Given the description of an element on the screen output the (x, y) to click on. 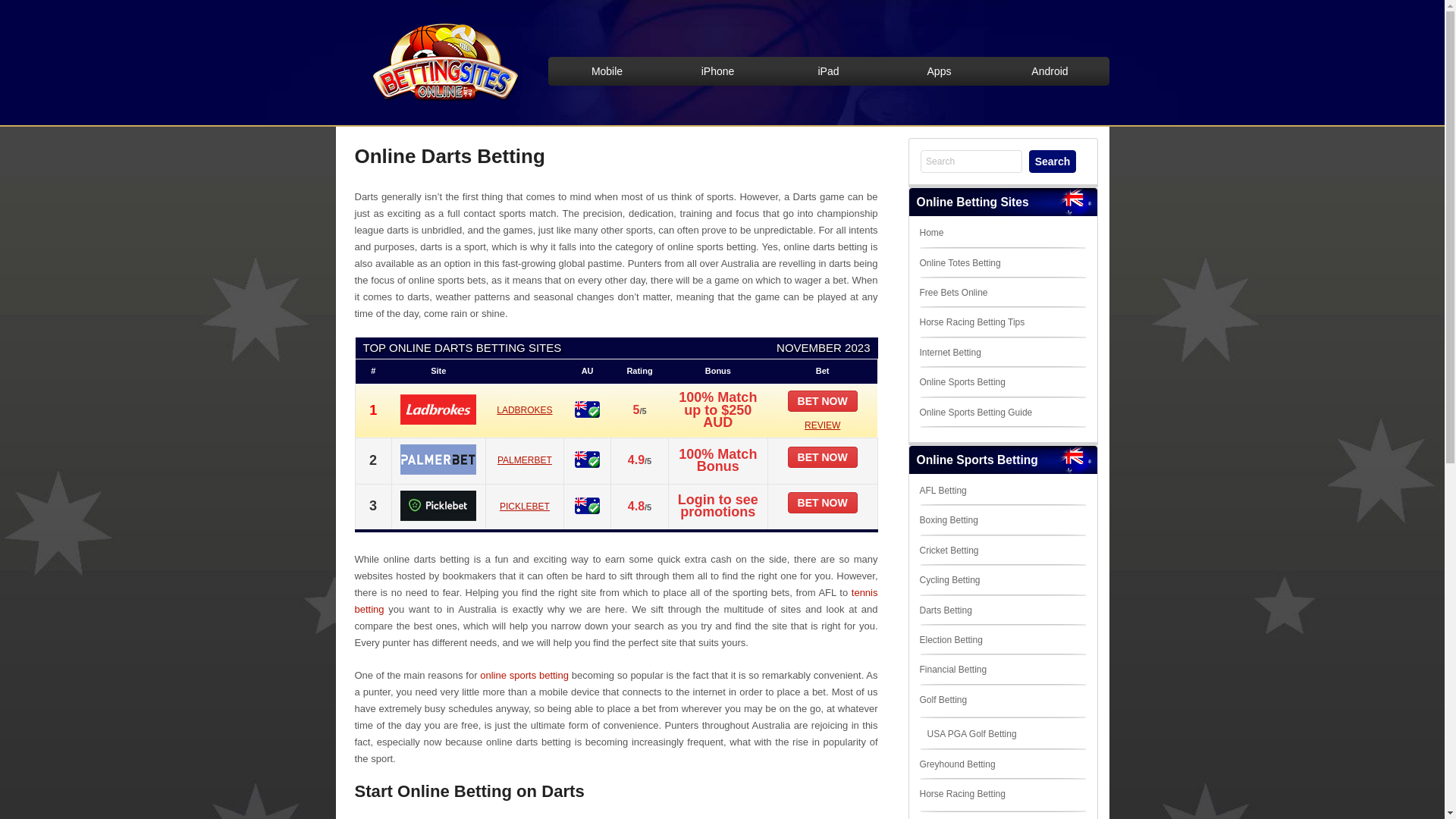
REVIEW Element type: text (822, 425)
Cricket Betting Element type: text (948, 550)
Horse Racing Betting Tips Element type: text (971, 321)
Search Element type: text (1052, 161)
Home Element type: text (931, 232)
Online Sports Betting Guide Element type: text (975, 411)
online sports betting Element type: text (524, 674)
AFL Betting Element type: text (942, 490)
iPhone Element type: text (717, 70)
Online Totes Betting Element type: text (959, 262)
Apps Element type: text (939, 70)
Greyhound Betting Element type: text (956, 764)
tennis betting Element type: text (616, 600)
Horse Racing Betting Element type: text (961, 793)
iPad Element type: text (828, 70)
Free Bets Online Element type: text (953, 292)
Android Element type: text (1049, 70)
Darts Betting Element type: text (945, 610)
Mobile Element type: text (607, 70)
Election Betting Element type: text (950, 639)
USA PGA Golf Betting Element type: text (971, 733)
Financial Betting Element type: text (952, 669)
Cycling Betting Element type: text (949, 579)
BET NOW Element type: text (822, 456)
Online Sports Betting Element type: text (961, 381)
Boxing Betting Element type: text (948, 519)
BET NOW Element type: text (822, 502)
Golf Betting Element type: text (942, 699)
BET NOW Element type: text (822, 400)
Internet Betting Element type: text (949, 352)
